Given the description of an element on the screen output the (x, y) to click on. 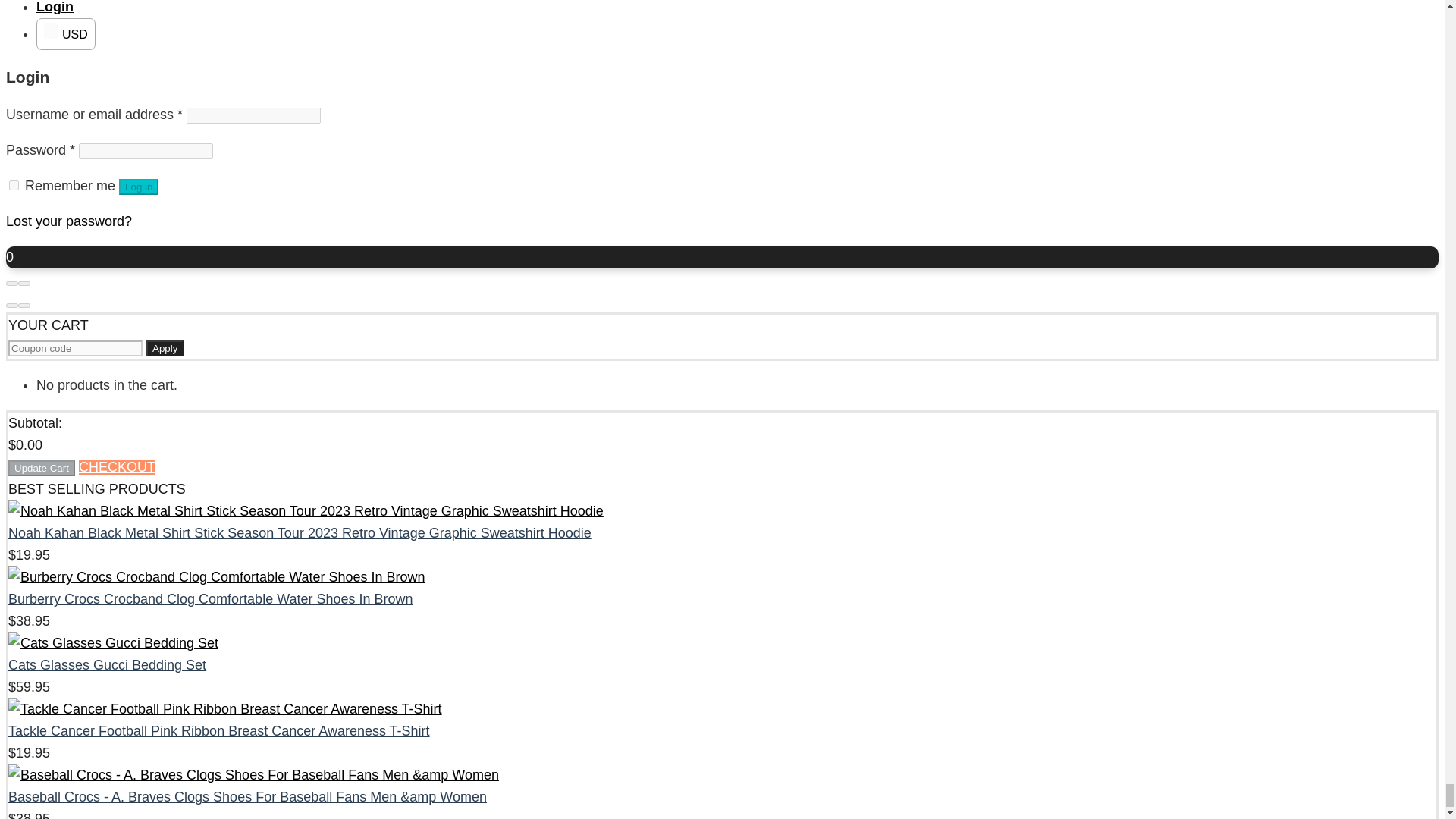
forever (13, 185)
